Given the description of an element on the screen output the (x, y) to click on. 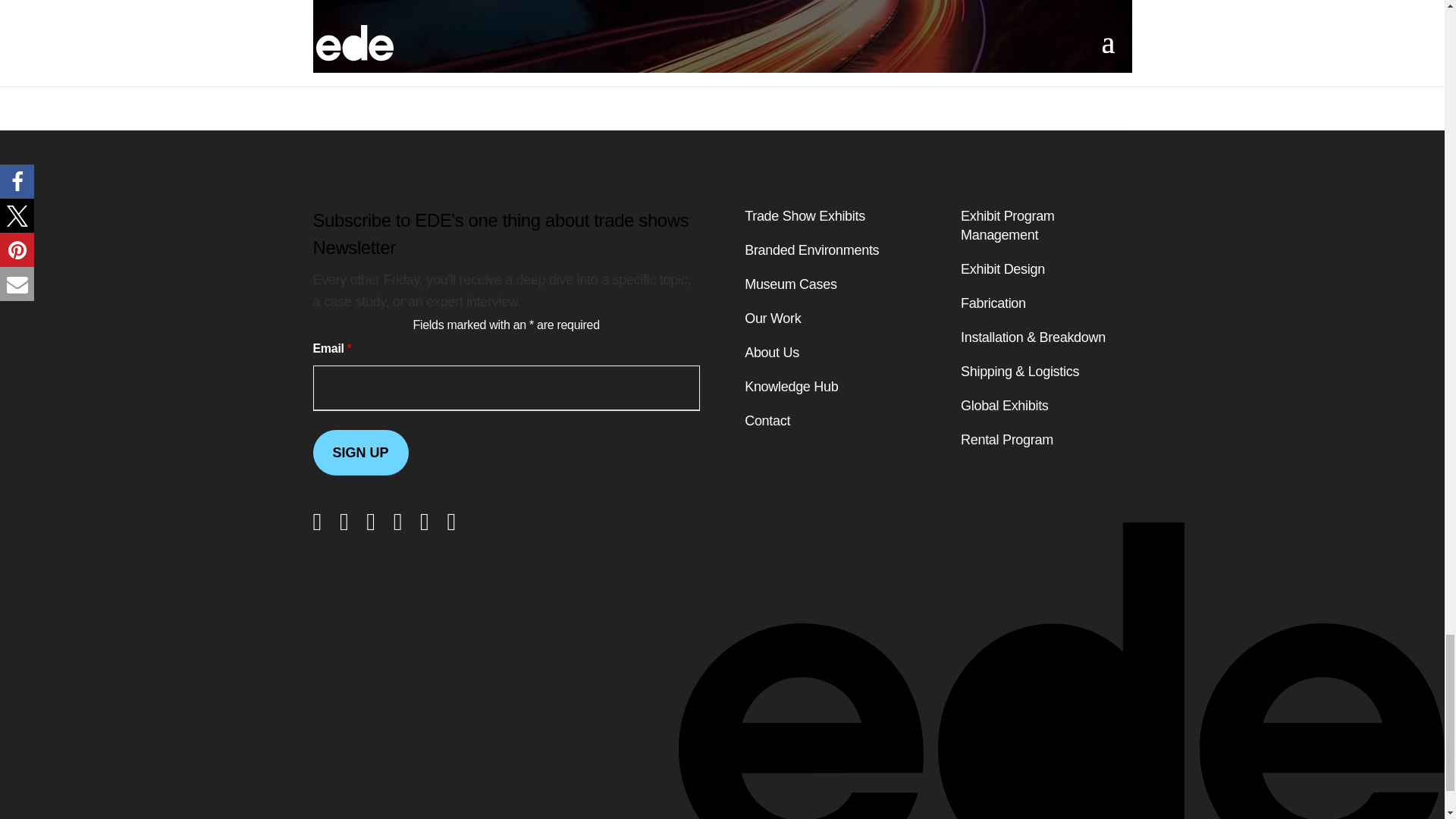
Knowledge Hub (791, 386)
Museum Cases (789, 284)
About Us (771, 352)
Contact (767, 421)
Sign Up (360, 452)
Branded Environments (811, 250)
Our Work (772, 318)
Trade Show Exhibits (804, 216)
Sign Up (360, 452)
